Given the description of an element on the screen output the (x, y) to click on. 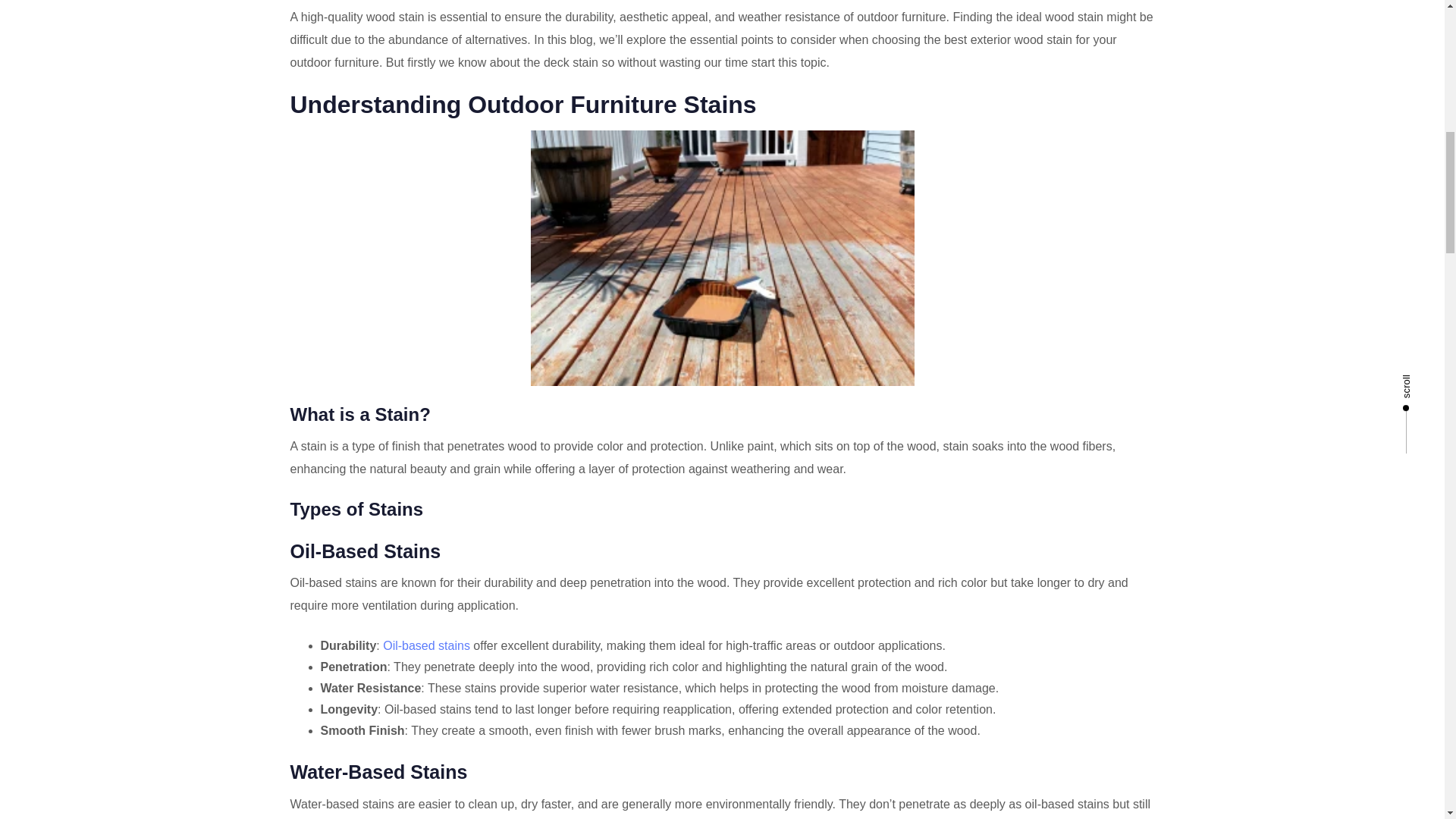
Oil-based stains (426, 645)
